Given the description of an element on the screen output the (x, y) to click on. 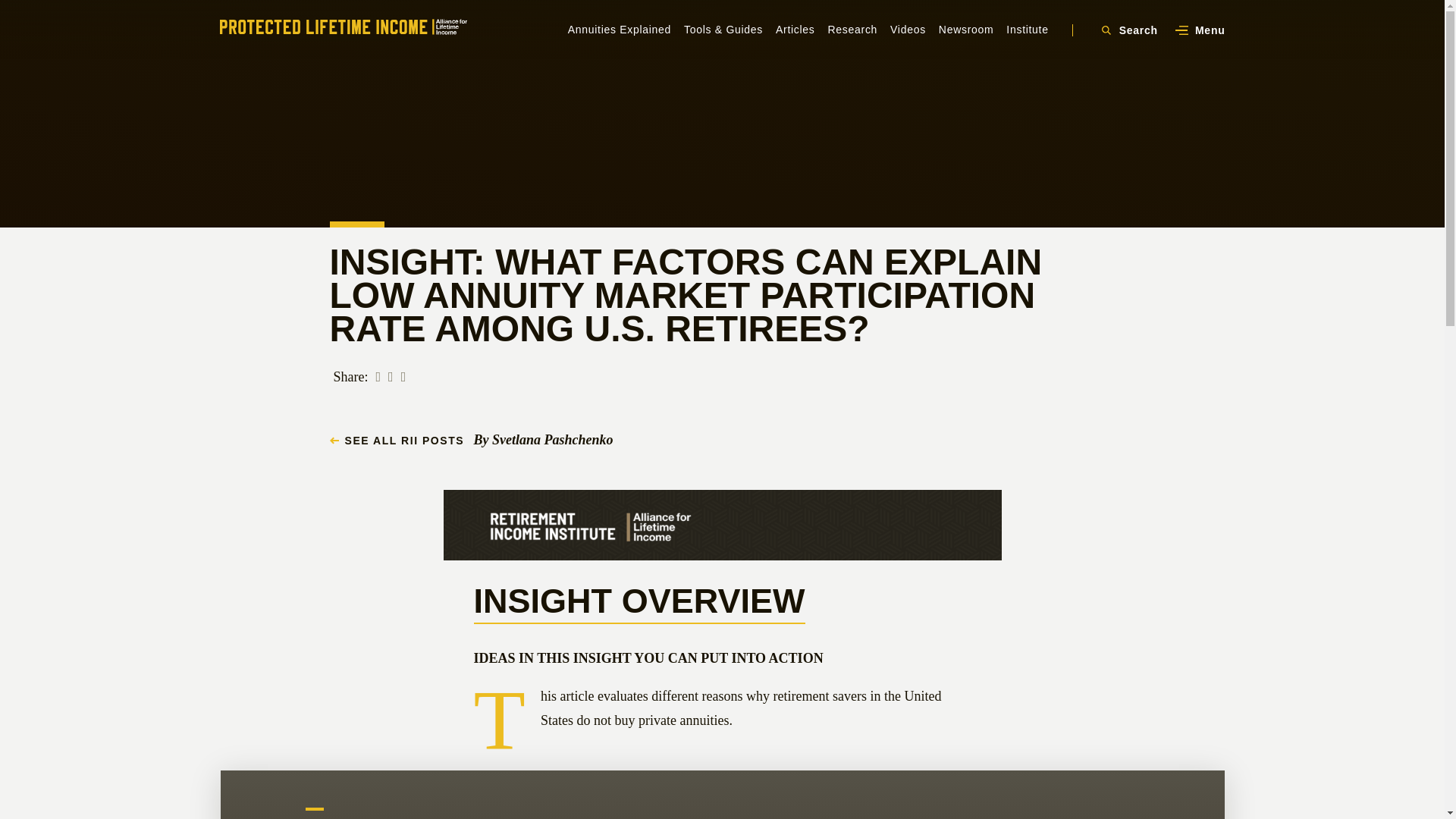
Research (852, 29)
Annuities Explained (619, 29)
Articles (795, 29)
SEE ALL RII POSTS (396, 440)
Institute (1027, 29)
Search (1127, 30)
Menu (1199, 30)
Videos (907, 29)
Newsroom (966, 29)
